Given the description of an element on the screen output the (x, y) to click on. 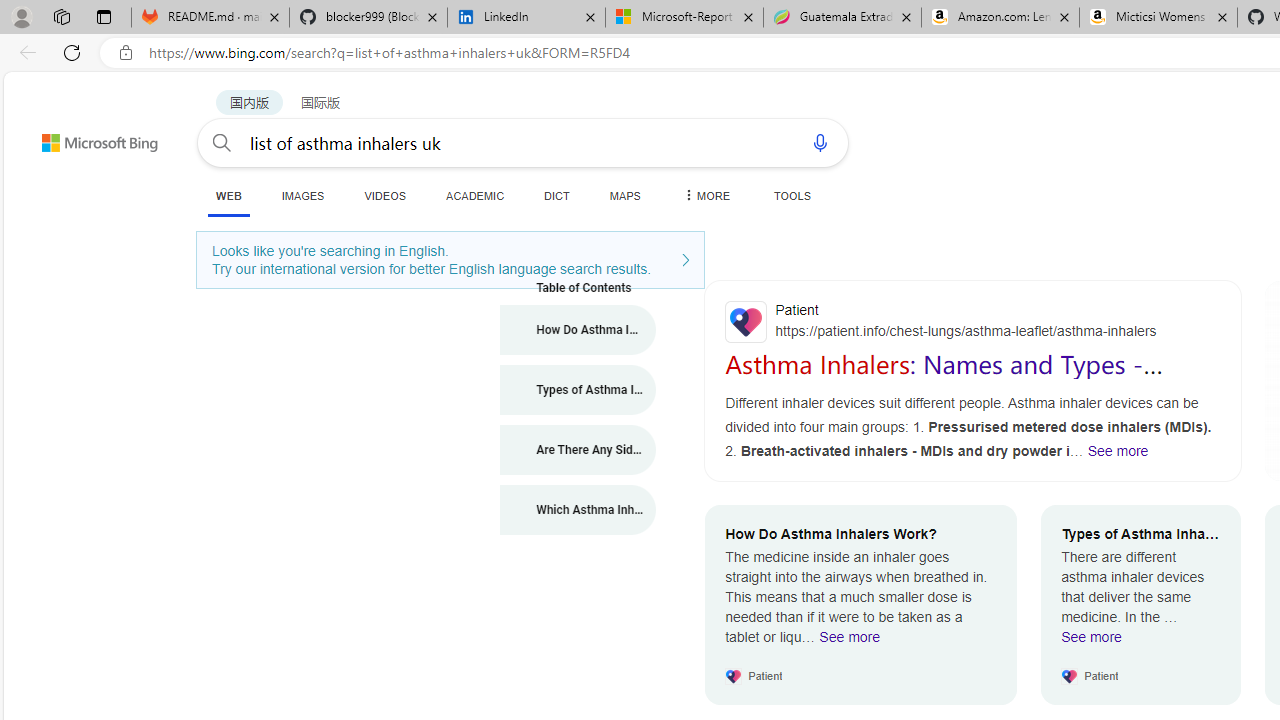
How Do Asthma Inhalers Work? (578, 329)
Search using voice (820, 142)
Search button (221, 142)
DICT (557, 195)
